Given the description of an element on the screen output the (x, y) to click on. 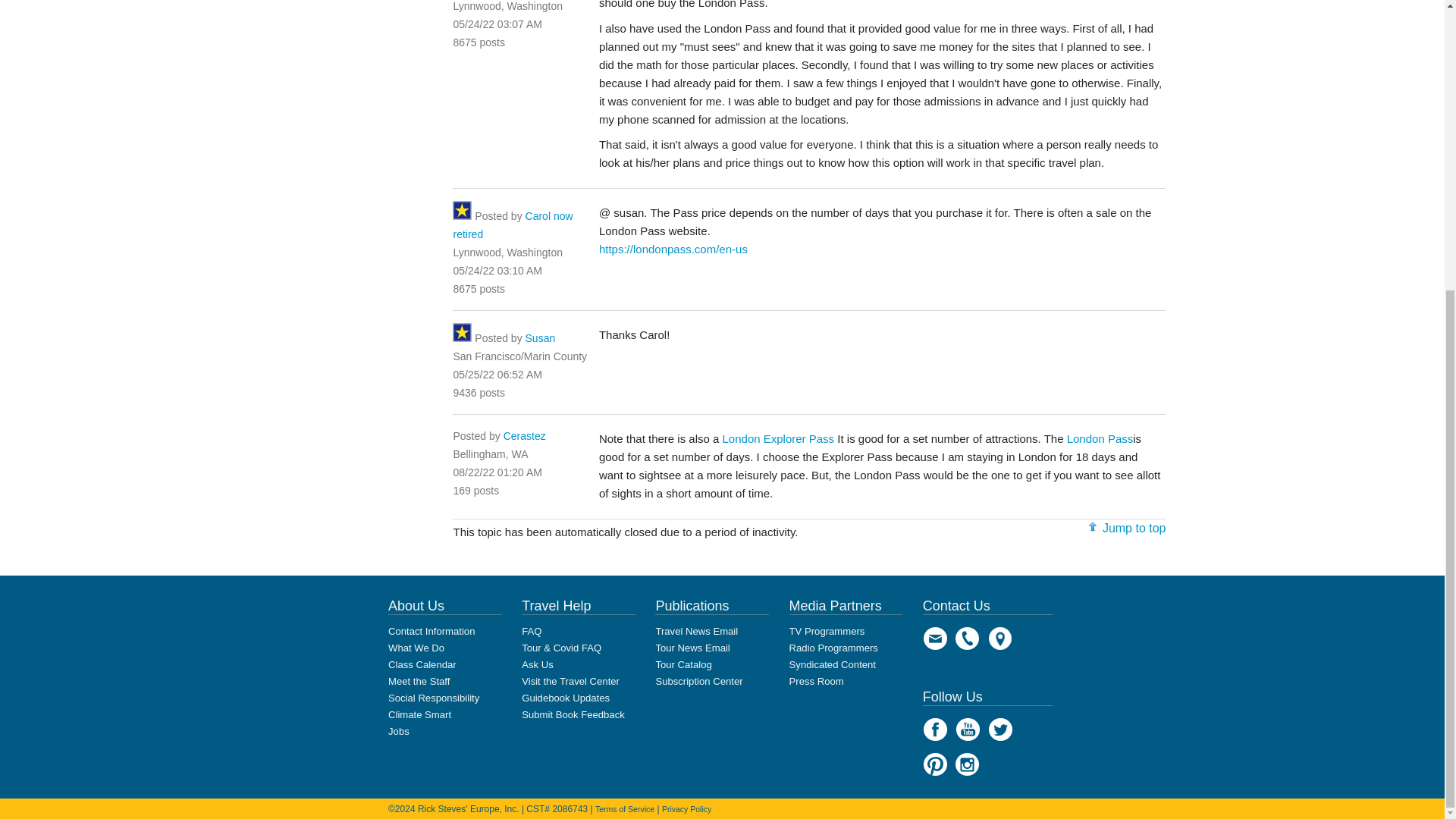
Reply: 1920520 (496, 270)
Carol now retired (512, 224)
Carol now retired (512, 224)
Reply: 1920517 (496, 24)
